Given the description of an element on the screen output the (x, y) to click on. 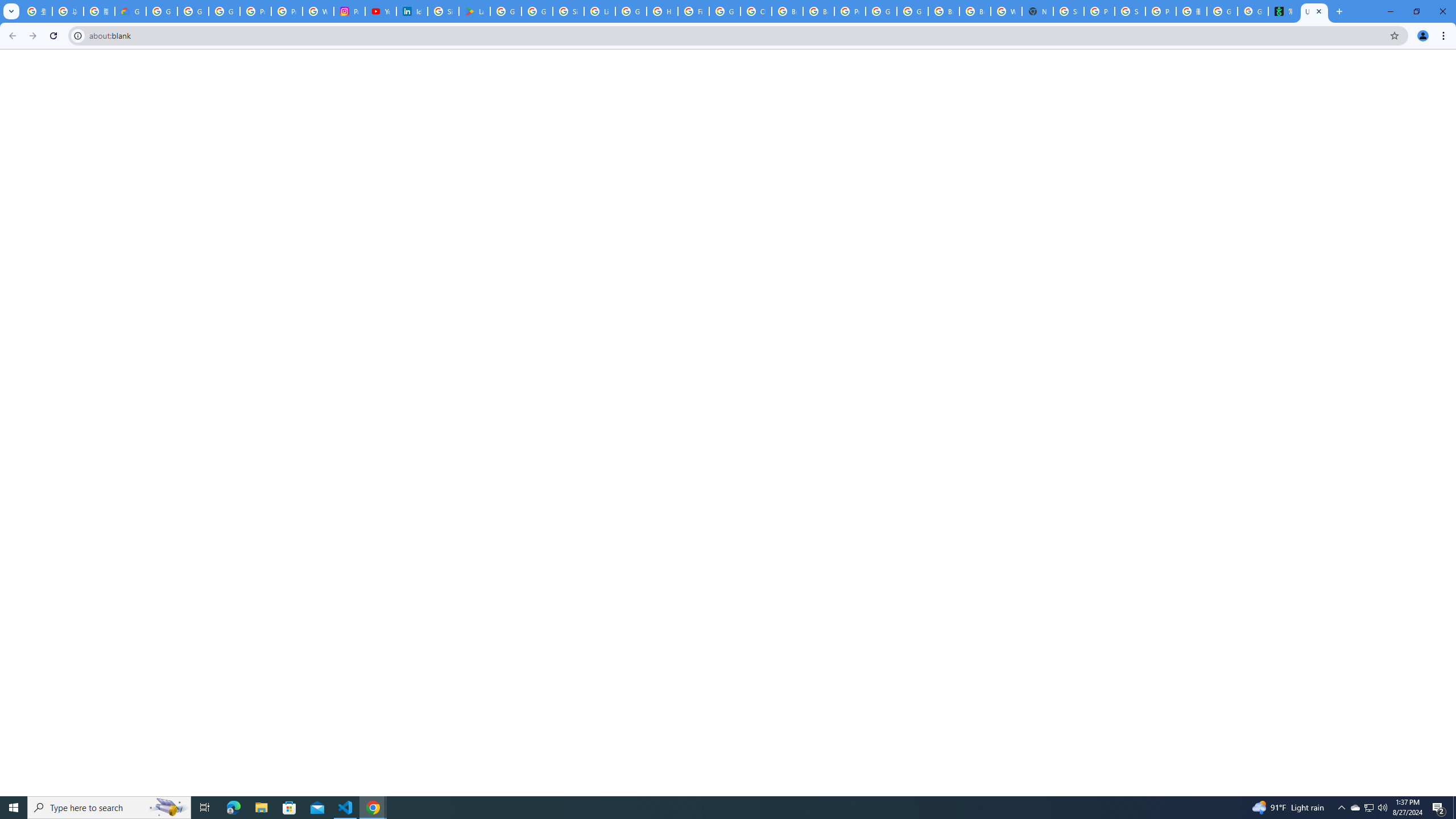
Sign in - Google Accounts (568, 11)
